Given the description of an element on the screen output the (x, y) to click on. 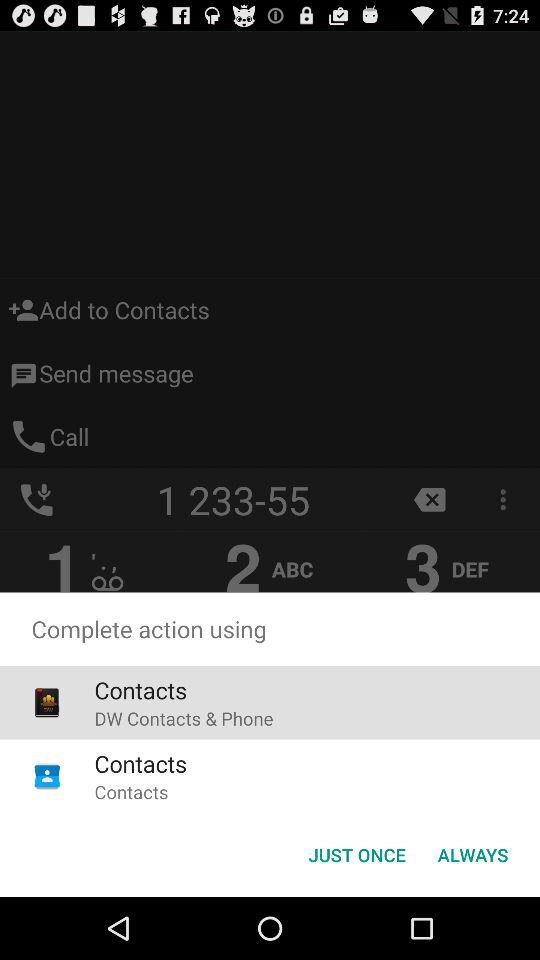
tap dw contacts & phone item (183, 718)
